Given the description of an element on the screen output the (x, y) to click on. 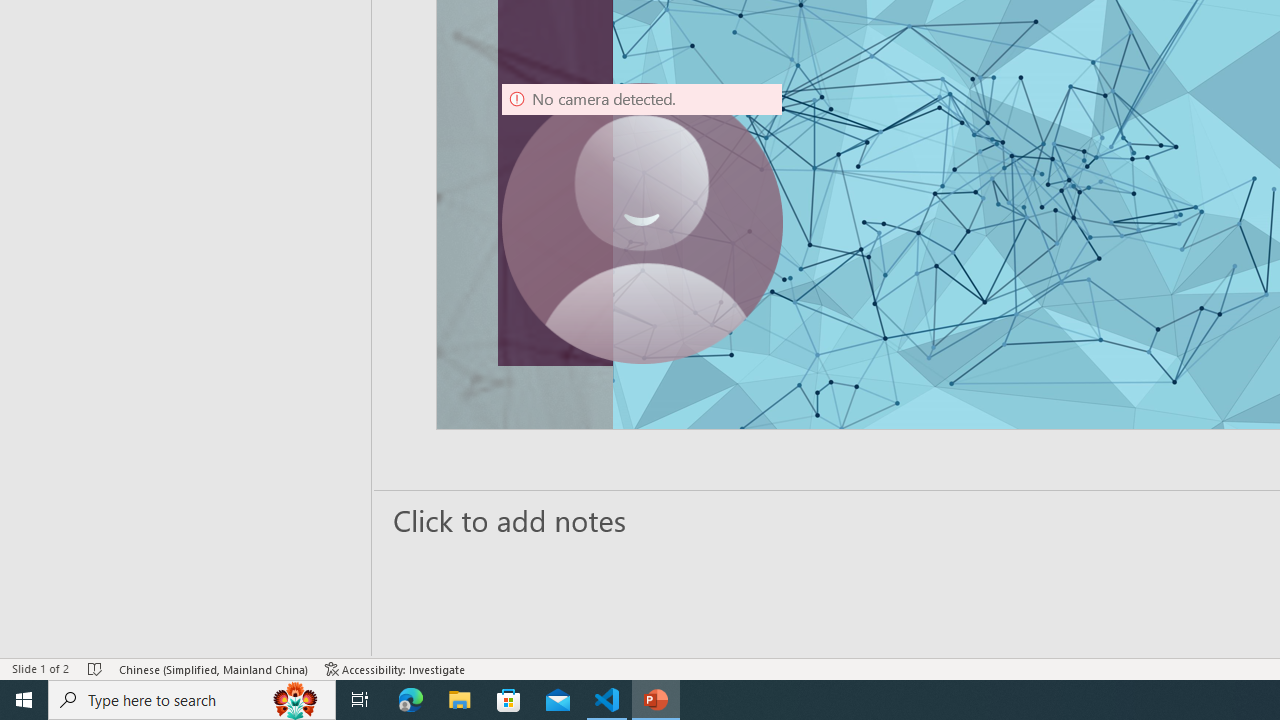
Camera 9, No camera detected. (641, 223)
